Given the description of an element on the screen output the (x, y) to click on. 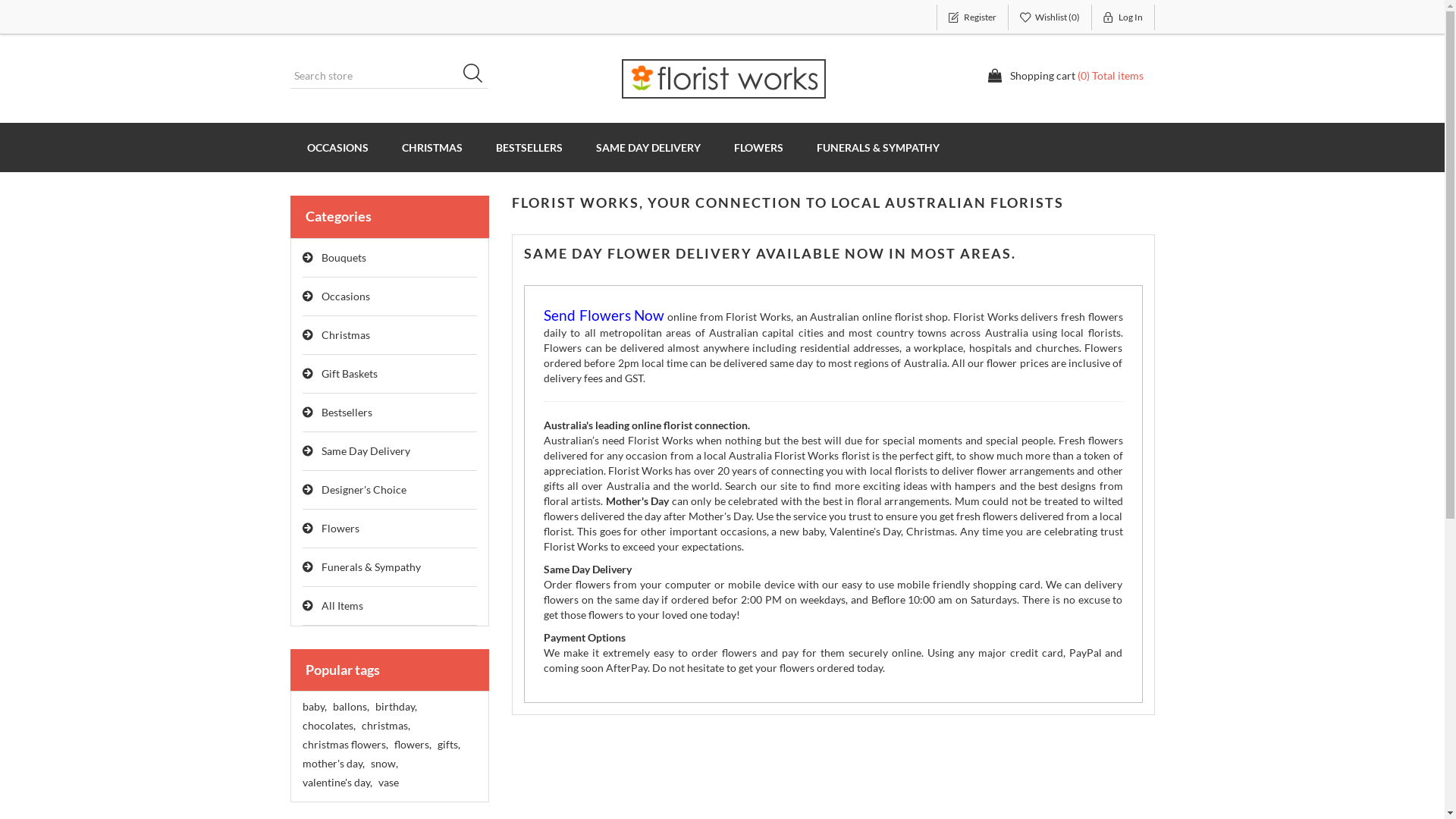
christmas flowers, Element type: text (344, 744)
Bouquets Element type: text (388, 257)
SAME DAY DELIVERY Element type: text (648, 147)
All Items Element type: text (388, 605)
Send Flowers Now Element type: text (603, 316)
Funerals & Sympathy Element type: text (388, 567)
Log In Element type: text (1123, 17)
birthday, Element type: text (395, 706)
ballons, Element type: text (350, 706)
mother's day, Element type: text (332, 763)
Gift Baskets Element type: text (388, 373)
CHRISTMAS Element type: text (432, 147)
baby, Element type: text (313, 706)
Christmas Element type: text (388, 335)
flowers, Element type: text (412, 744)
Register Element type: text (971, 17)
Shopping cart (0) Total items Element type: text (1065, 75)
Wishlist (0) Element type: text (1050, 17)
christmas, Element type: text (384, 725)
OCCASIONS Element type: text (336, 147)
Flowers Element type: text (388, 528)
Same Day Delivery Element type: text (388, 451)
Designer's Choice Element type: text (388, 489)
FUNERALS & SYMPATHY Element type: text (877, 147)
BESTSELLERS Element type: text (529, 147)
chocolates, Element type: text (327, 725)
Bestsellers Element type: text (388, 412)
vase Element type: text (387, 782)
FLOWERS Element type: text (758, 147)
Occasions Element type: text (388, 296)
valentine's day, Element type: text (336, 782)
gifts, Element type: text (447, 744)
snow, Element type: text (383, 763)
